Given the description of an element on the screen output the (x, y) to click on. 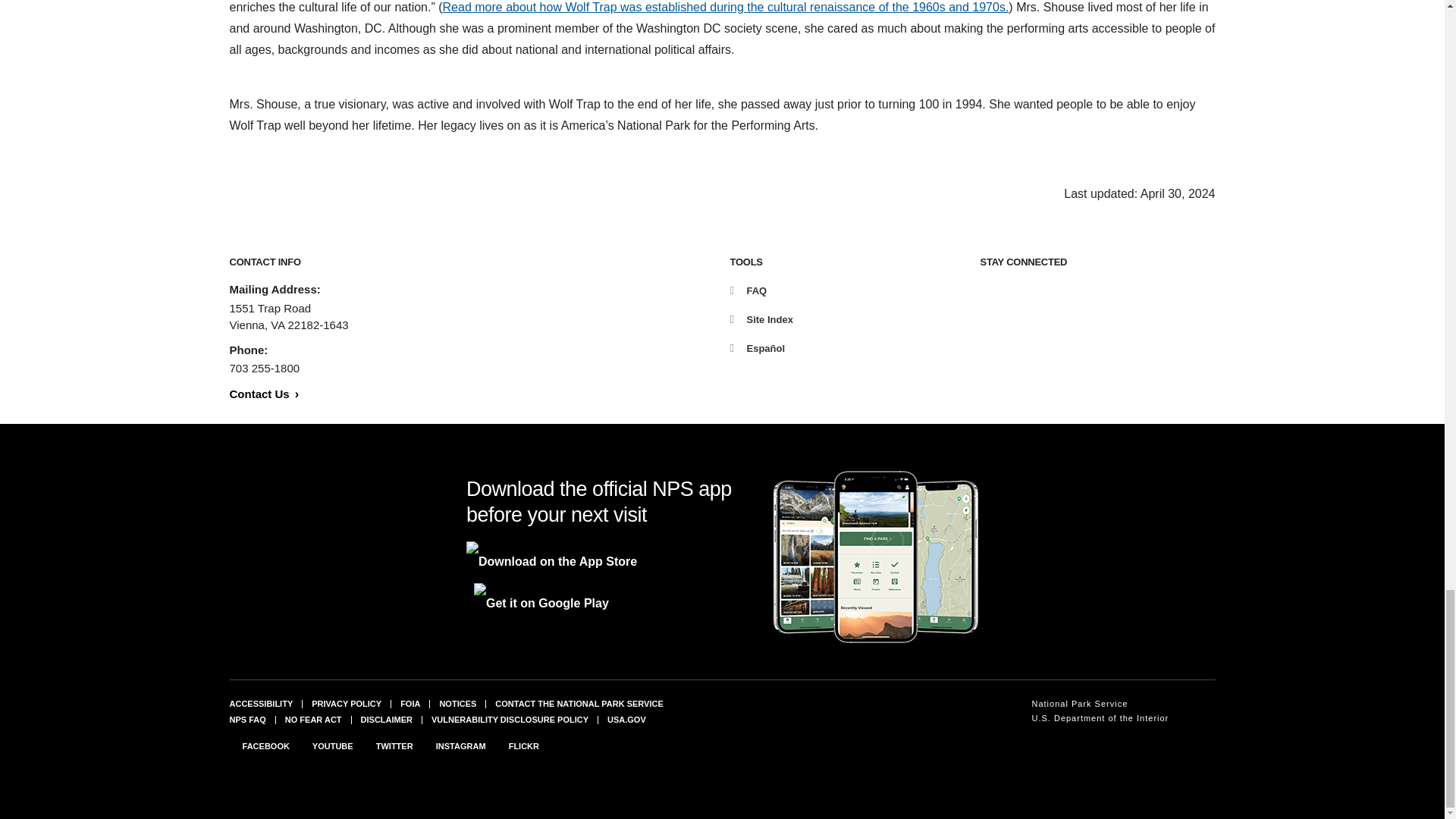
FAQ (748, 290)
Contact Us (263, 393)
Site Index (760, 319)
National Park Service (1099, 703)
National Park Service frequently asked questions (246, 718)
U.S. Department of the Interior (1099, 718)
